Given the description of an element on the screen output the (x, y) to click on. 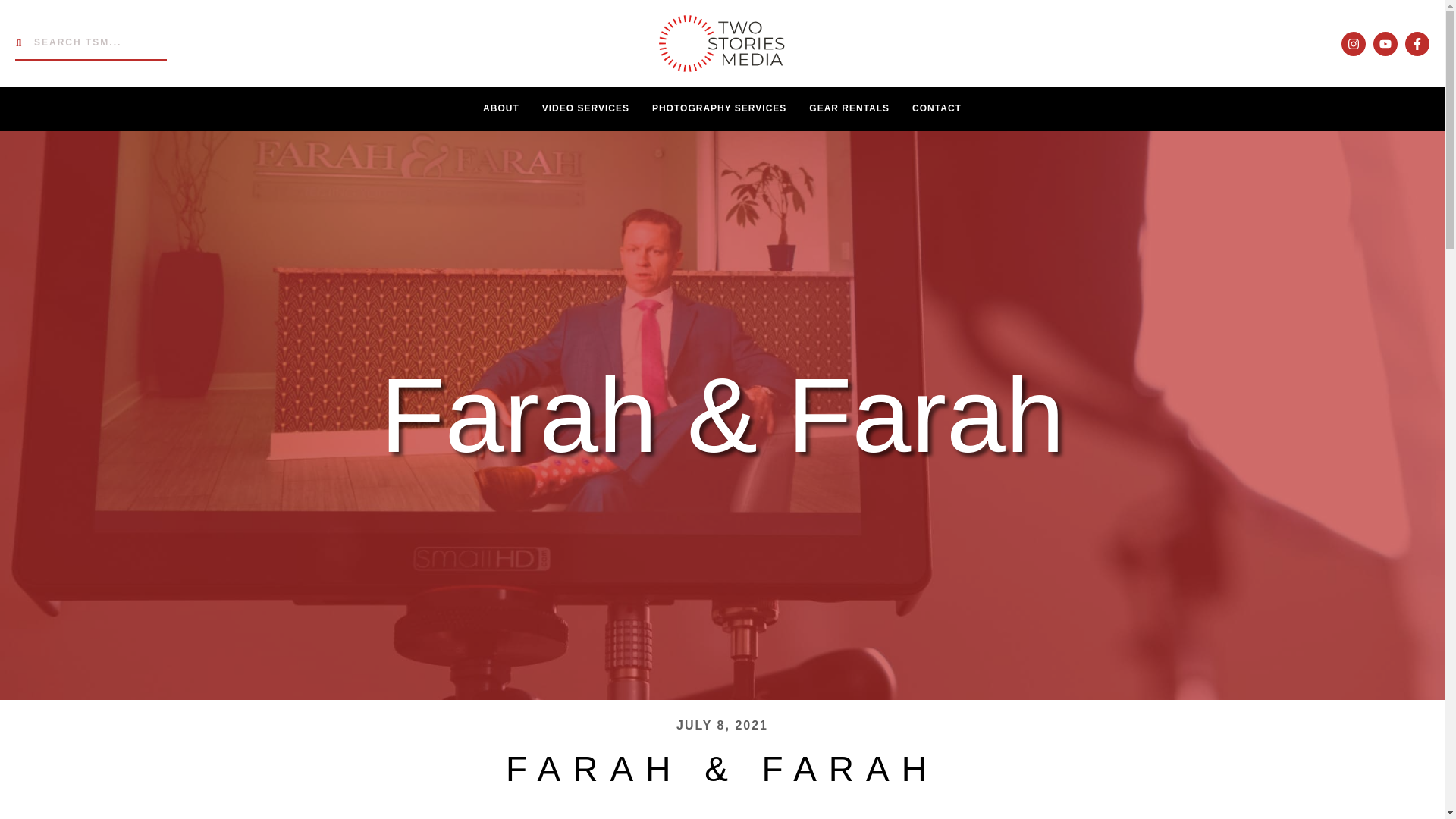
CONTACT (936, 108)
GEAR RENTALS (849, 108)
VIDEO SERVICES (585, 108)
PHOTOGRAPHY SERVICES (718, 108)
ABOUT (501, 108)
